Given the description of an element on the screen output the (x, y) to click on. 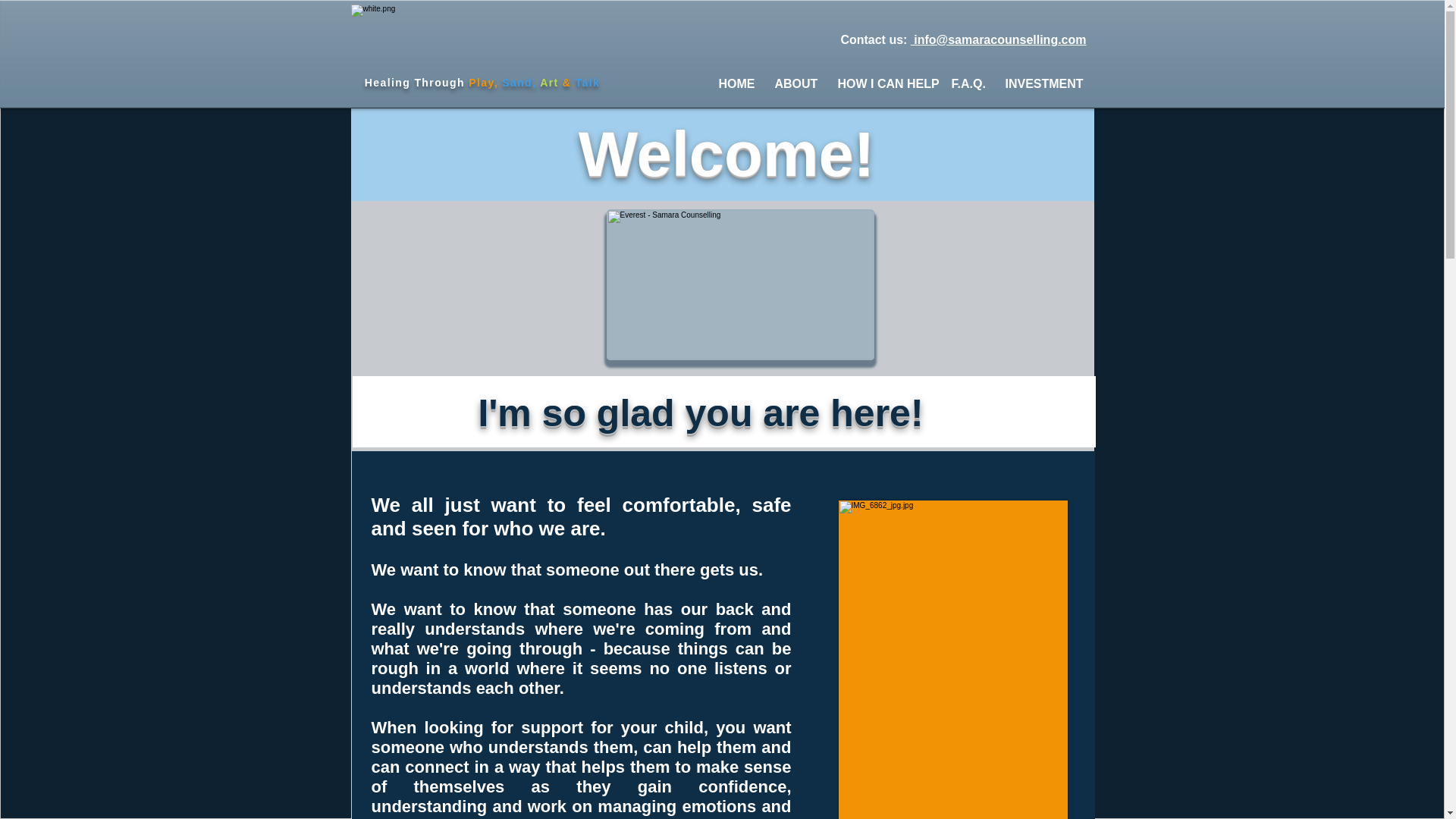
HOME (734, 83)
HOW I CAN HELP (883, 83)
INVESTMENT (1039, 83)
ABOUT (793, 83)
F.A.Q. (967, 83)
